Given the description of an element on the screen output the (x, y) to click on. 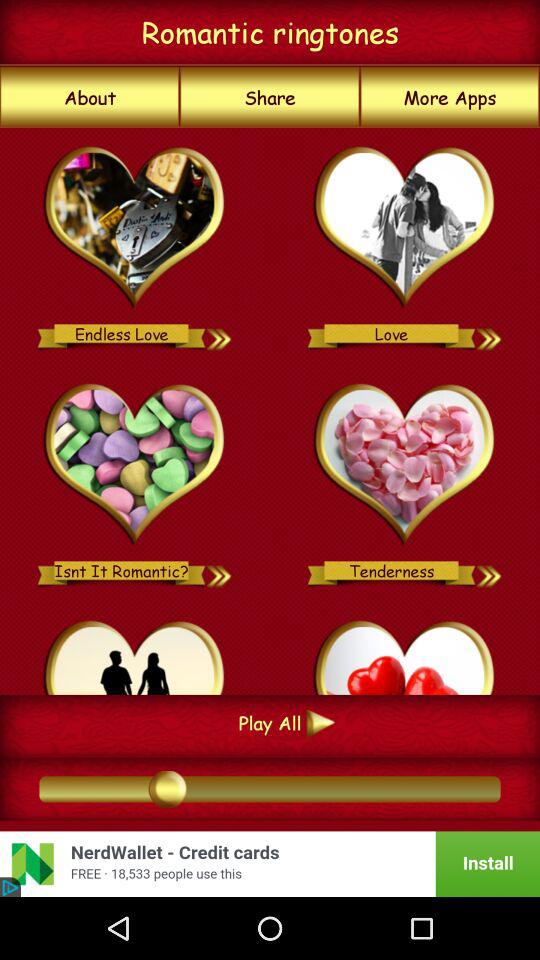
go to tenderness ringtone (490, 570)
